Given the description of an element on the screen output the (x, y) to click on. 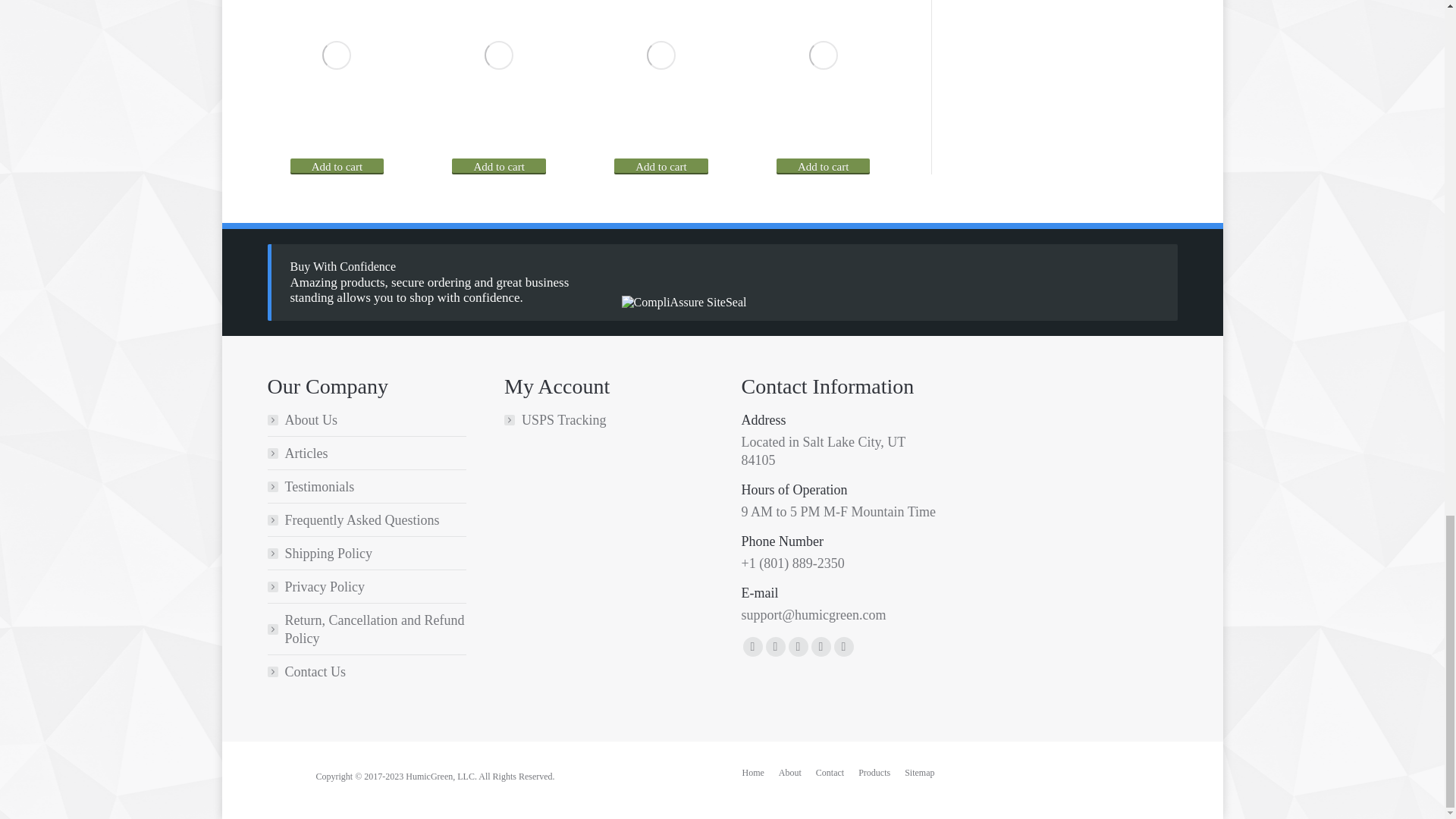
X page opens in new window (775, 646)
Website page opens in new window (843, 646)
Facebook page opens in new window (752, 646)
Rss page opens in new window (798, 646)
About Us (790, 772)
Contact Us (829, 772)
Mail page opens in new window (820, 646)
